Given the description of an element on the screen output the (x, y) to click on. 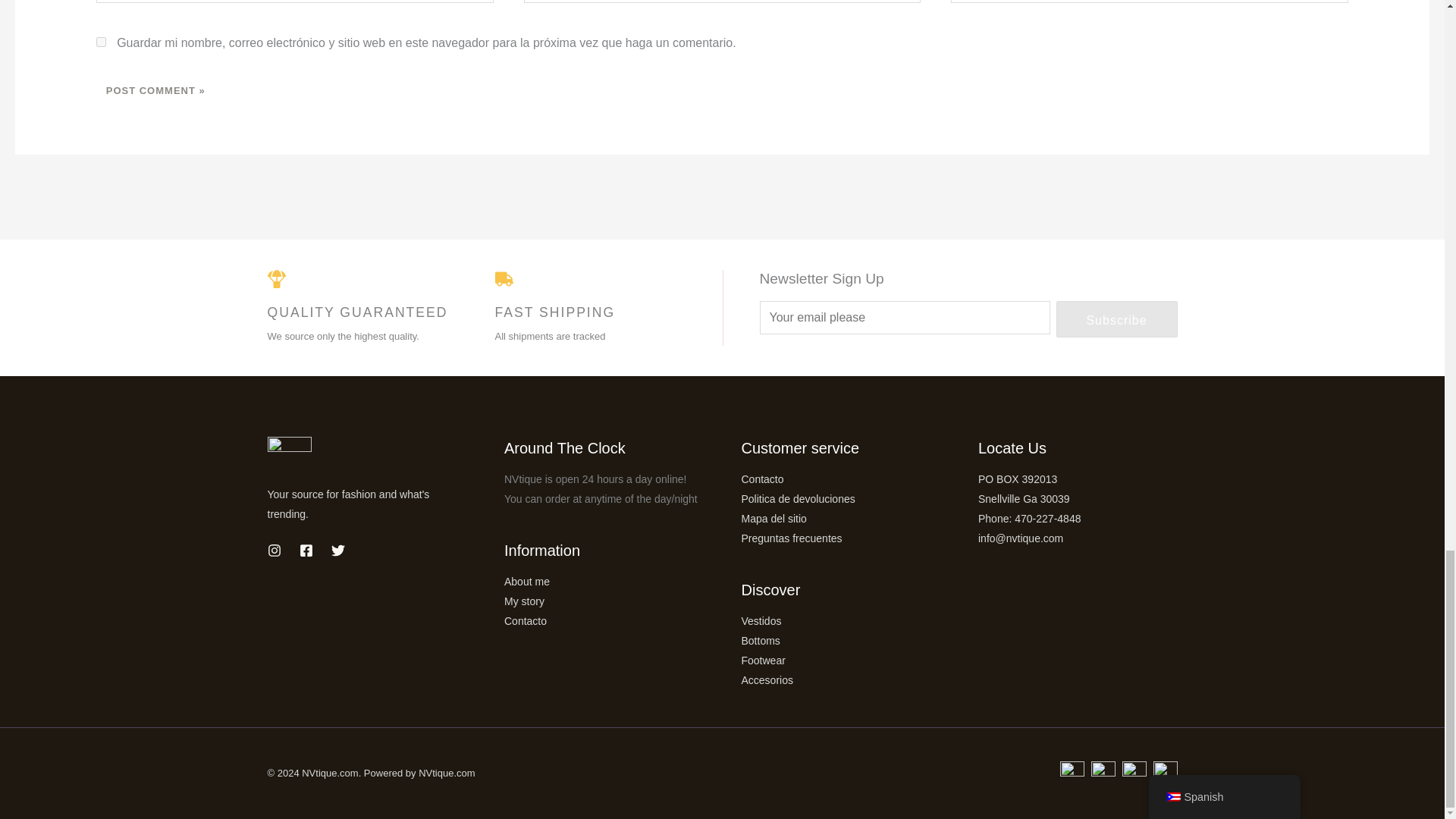
yes (101, 41)
